Given the description of an element on the screen output the (x, y) to click on. 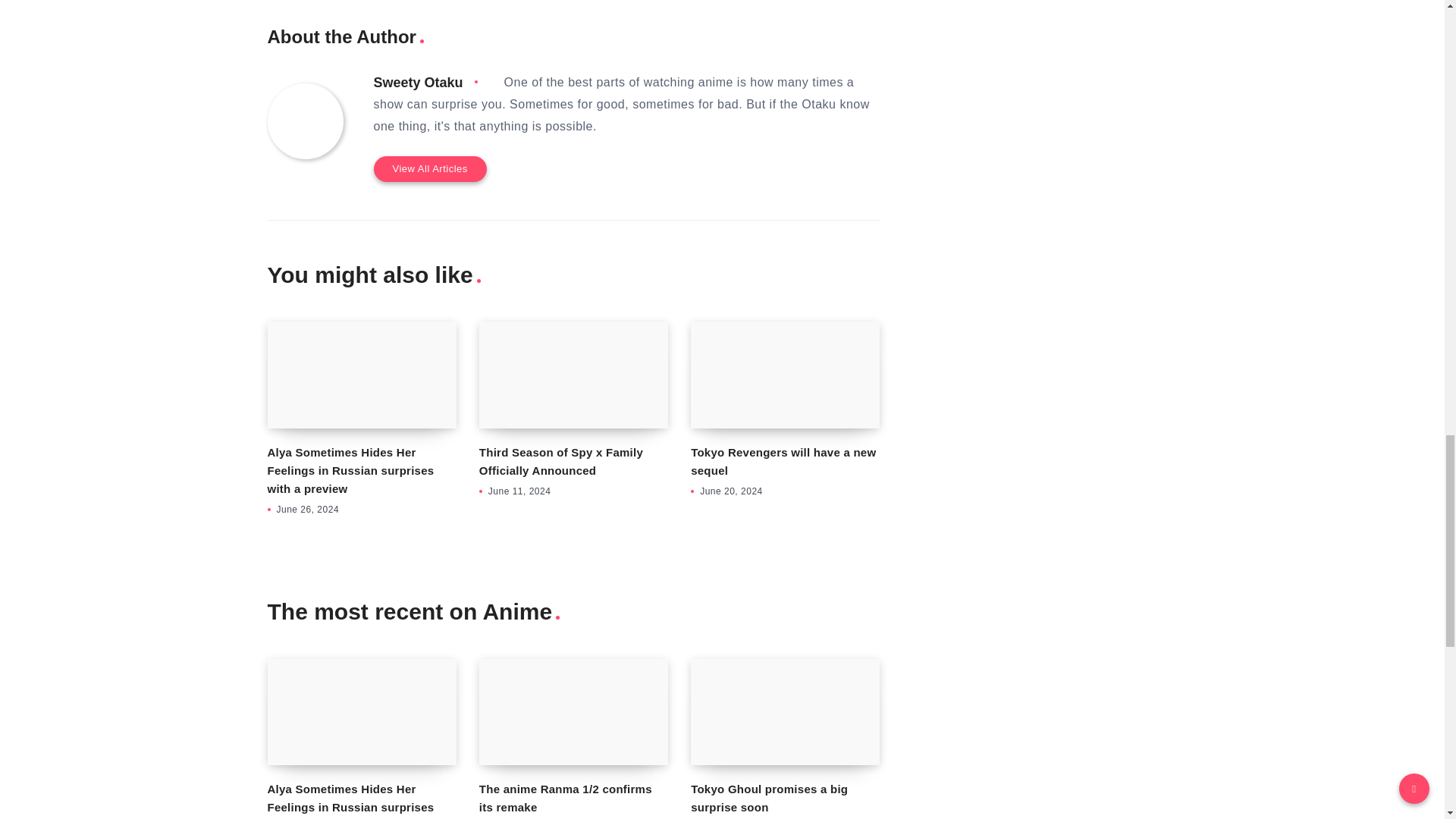
Tokyo Revengers will have a new sequel (784, 374)
Tokyo Ghoul promises a big surprise soon (784, 711)
Third Season of Spy x Family Officially Announced (561, 460)
View All Articles (429, 168)
Tokyo Revengers will have a new sequel (783, 460)
Third Season of Spy x Family Officially Announced (573, 374)
Sweety Otaku (417, 82)
